Given the description of an element on the screen output the (x, y) to click on. 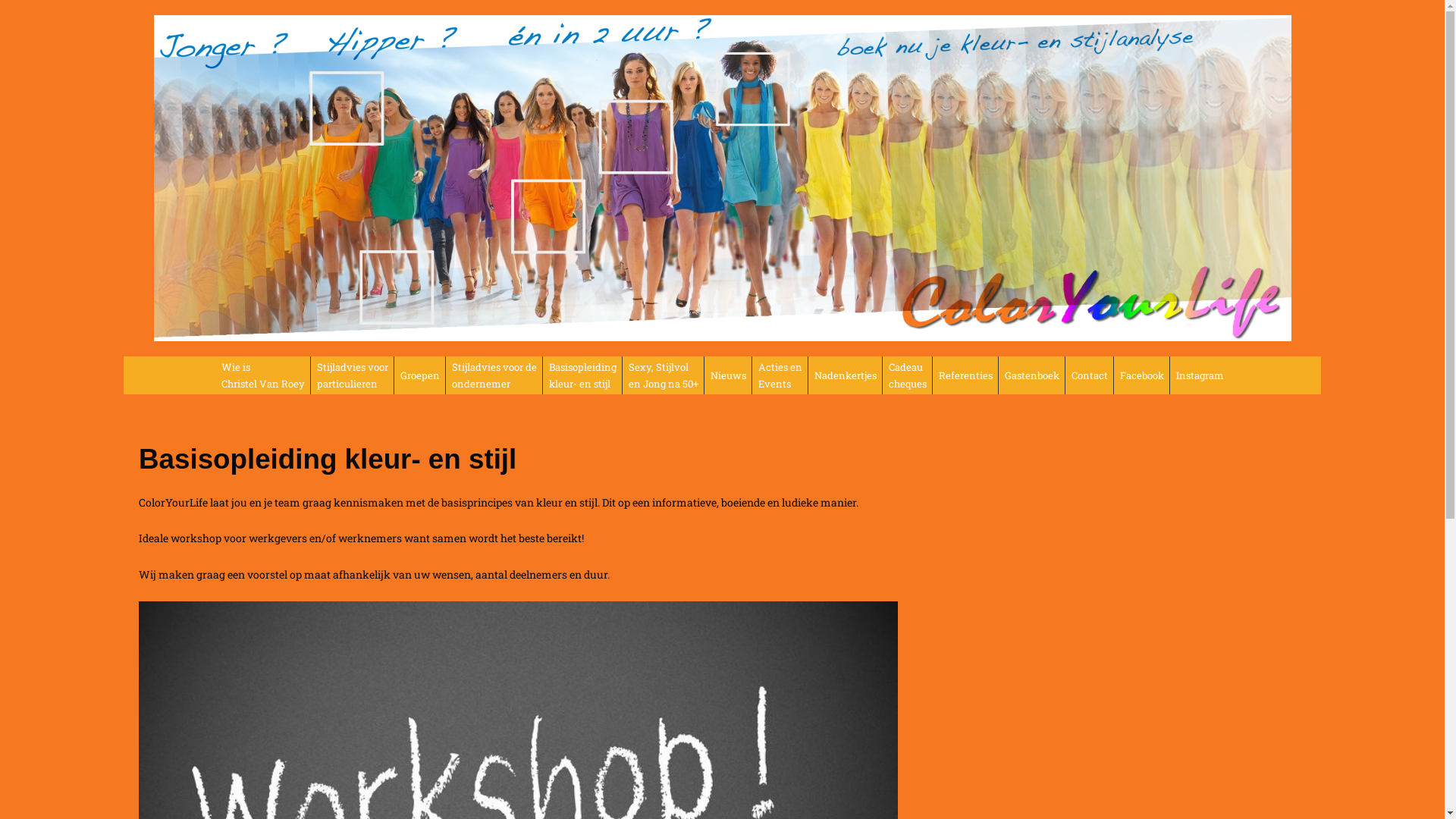
Cadeau
cheques Element type: text (906, 375)
Stijladvies voor de
ondernemer Element type: text (493, 375)
Referenties Element type: text (964, 375)
Sexy, Stijlvol
en Jong na 50+ Element type: text (662, 375)
Facebook Element type: text (1141, 375)
Instagram Element type: text (1199, 375)
Nadenkertjes Element type: text (844, 375)
Gastenboek Element type: text (1031, 375)
Contact Element type: text (1089, 375)
Nieuws Element type: text (727, 375)
Stijladvies voor
particulieren Element type: text (351, 375)
Acties en
Events Element type: text (779, 375)
Wie is
Christel Van Roey Element type: text (262, 375)
Groepen Element type: text (419, 375)
Basisopleiding
kleur- en stijl Element type: text (581, 375)
